Given the description of an element on the screen output the (x, y) to click on. 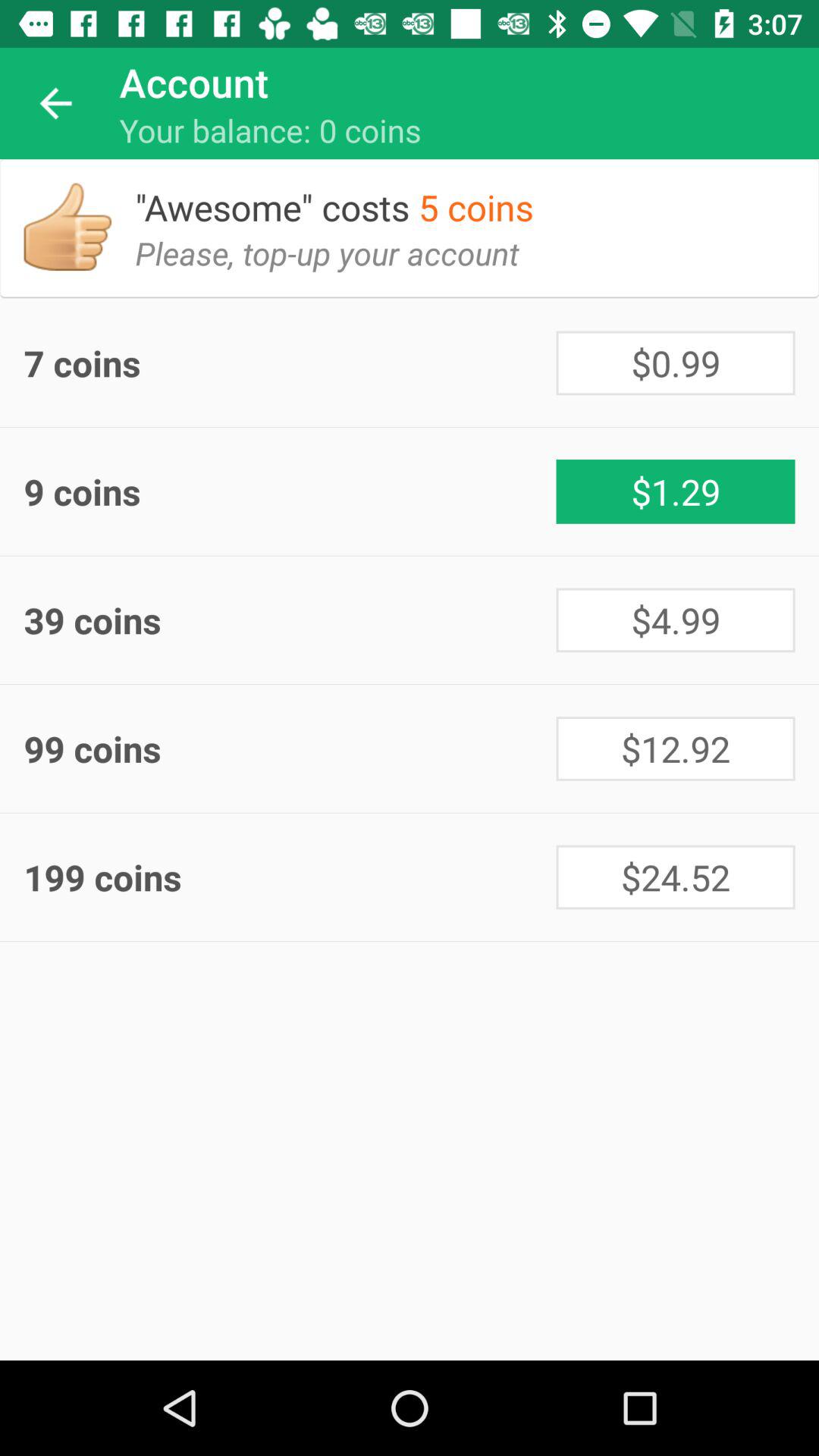
flip to $1.29 icon (675, 491)
